Given the description of an element on the screen output the (x, y) to click on. 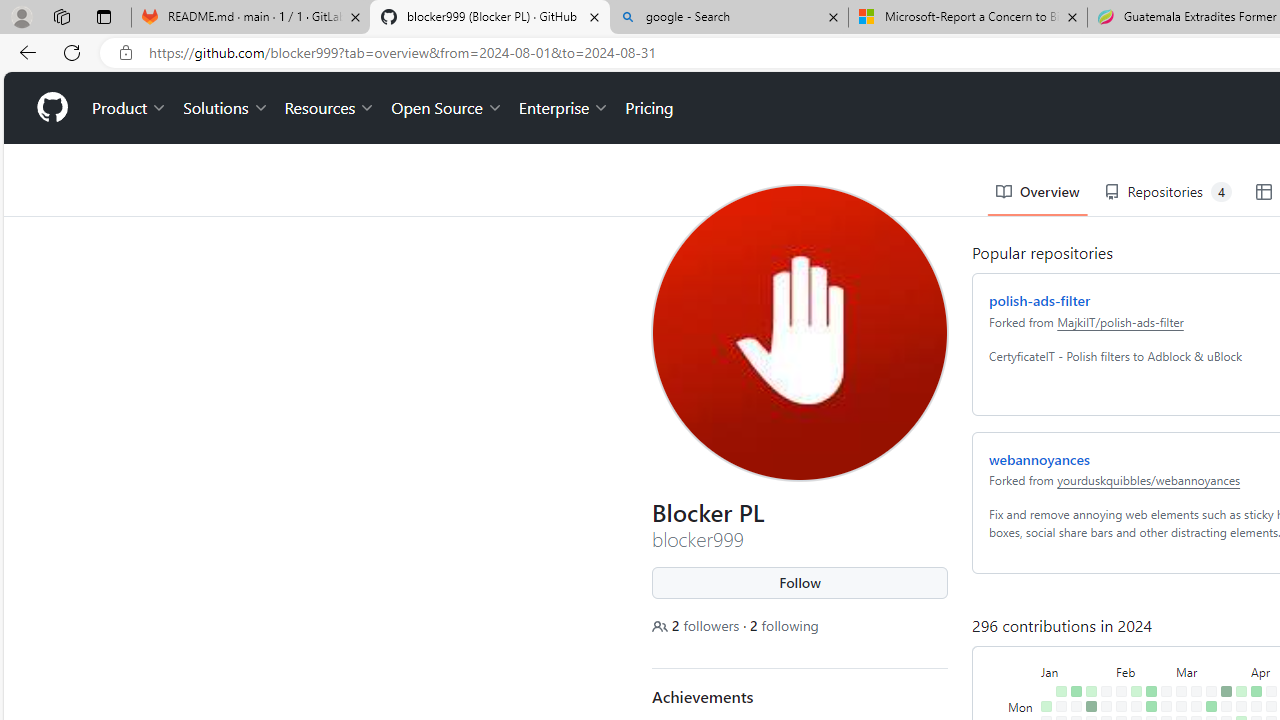
No contributions on April 12th. (1252, 694)
No contributions on March 14th. (1192, 678)
